Given the description of an element on the screen output the (x, y) to click on. 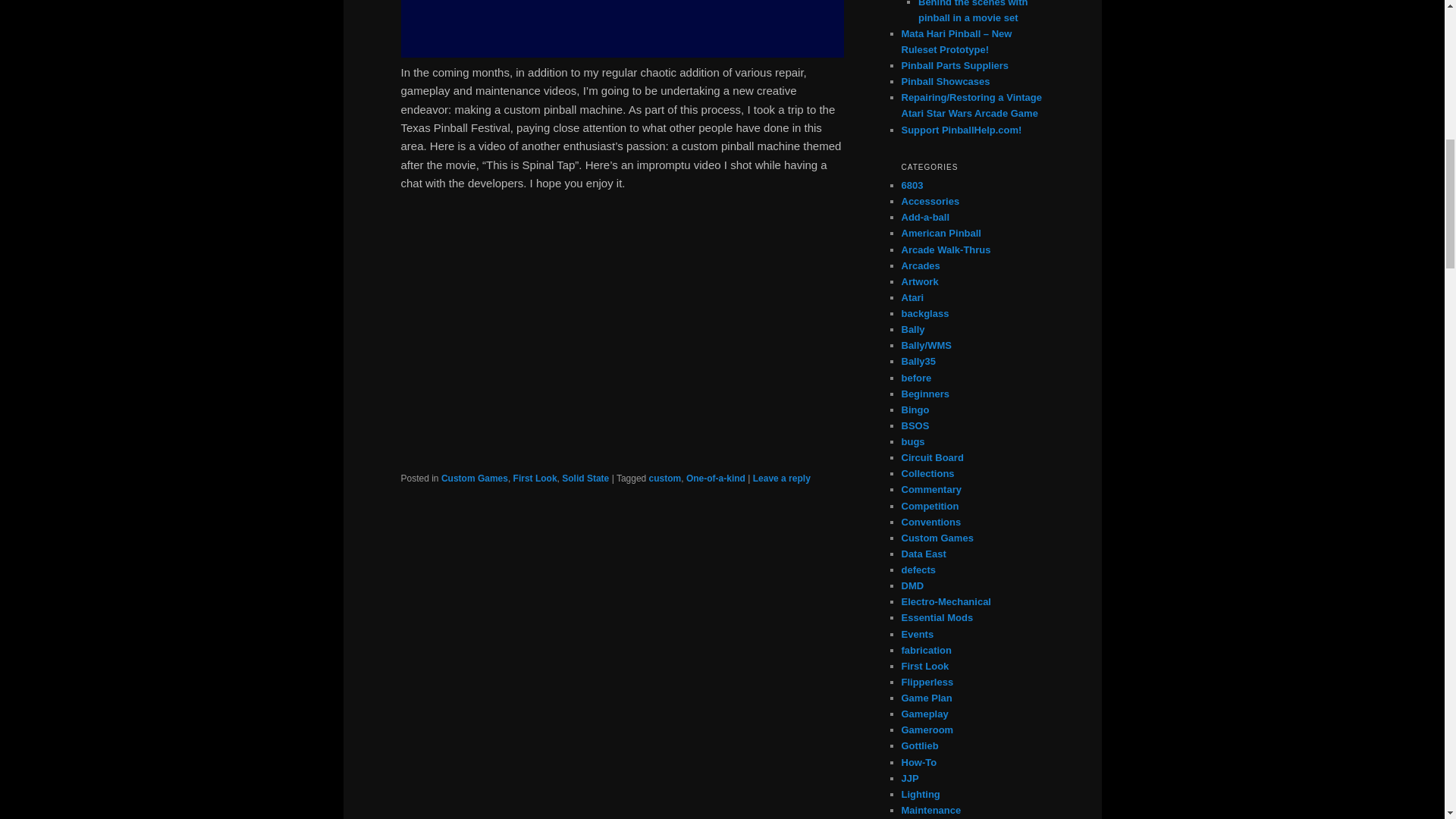
One-of-a-kind (715, 478)
Behind the scenes with pinball in a movie set (972, 11)
Leave a reply (781, 478)
custom (665, 478)
Solid State (585, 478)
Custom Games (474, 478)
Spinal Tap pinball gameplay (621, 336)
First Look (535, 478)
Advertisement (621, 28)
